Given the description of an element on the screen output the (x, y) to click on. 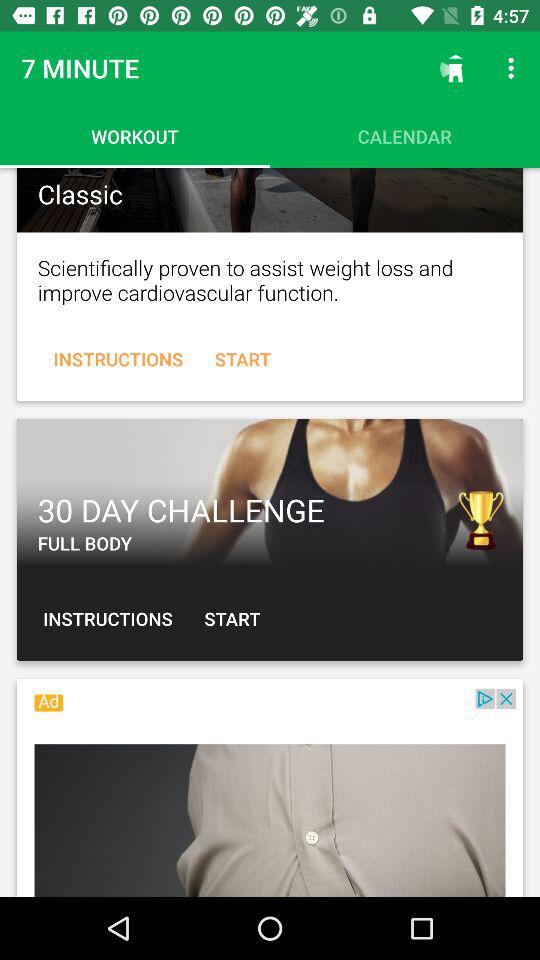
click photo (269, 200)
